Given the description of an element on the screen output the (x, y) to click on. 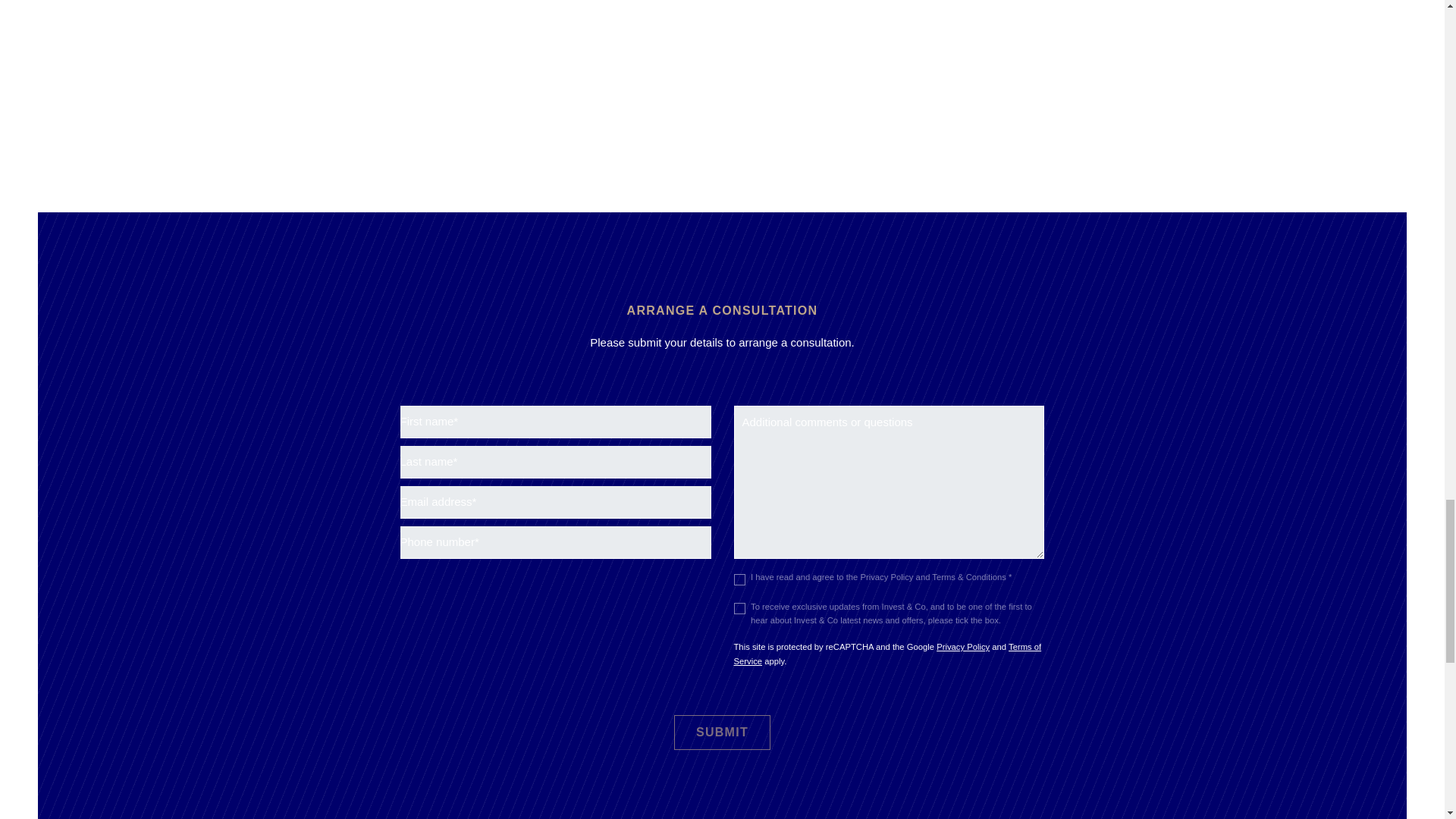
Submit (722, 732)
1 (739, 579)
1 (739, 608)
